Given the description of an element on the screen output the (x, y) to click on. 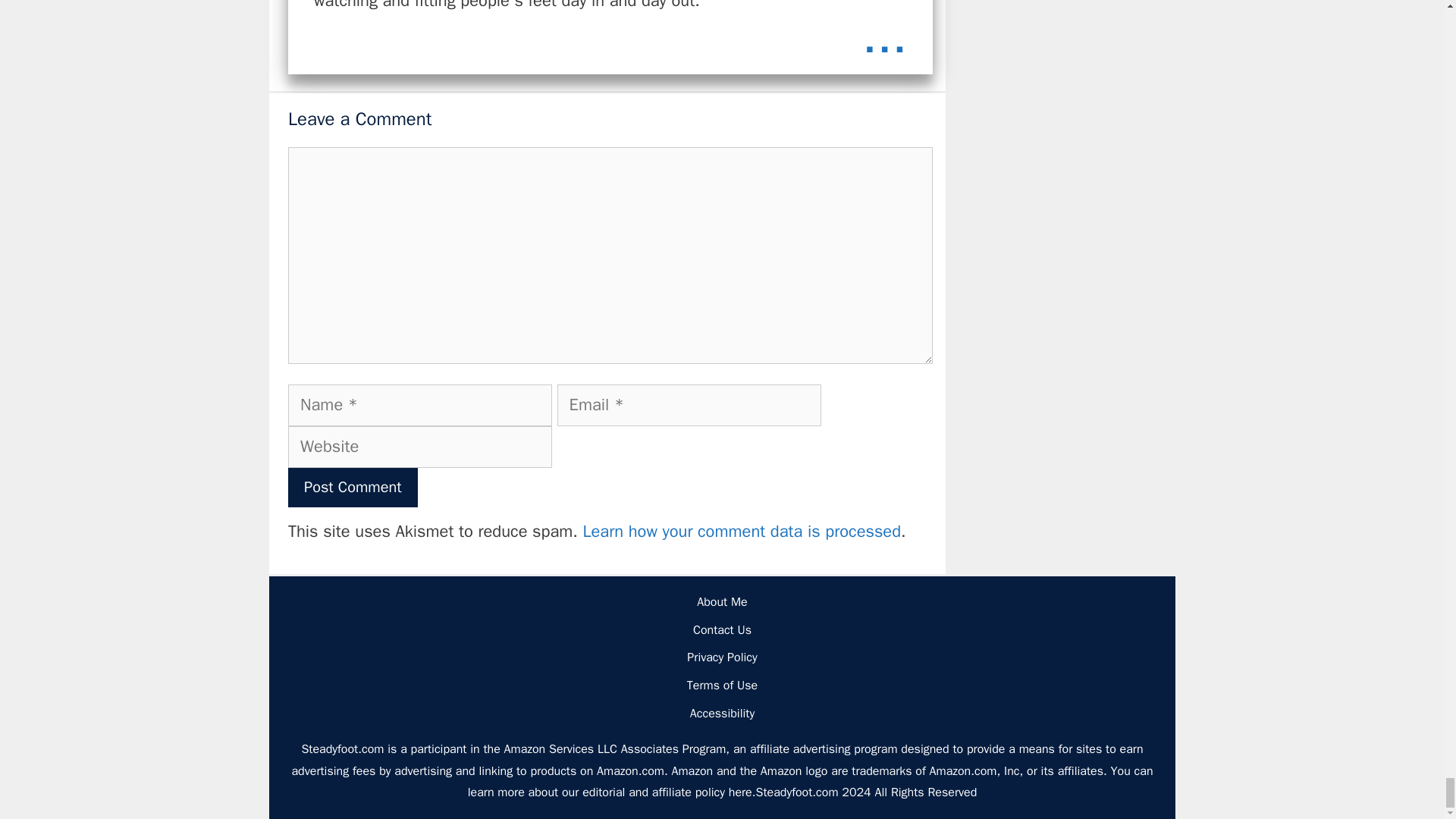
Post Comment (352, 486)
Post Comment (352, 486)
Read more (884, 35)
Learn how your comment data is processed (741, 531)
... (884, 35)
